Given the description of an element on the screen output the (x, y) to click on. 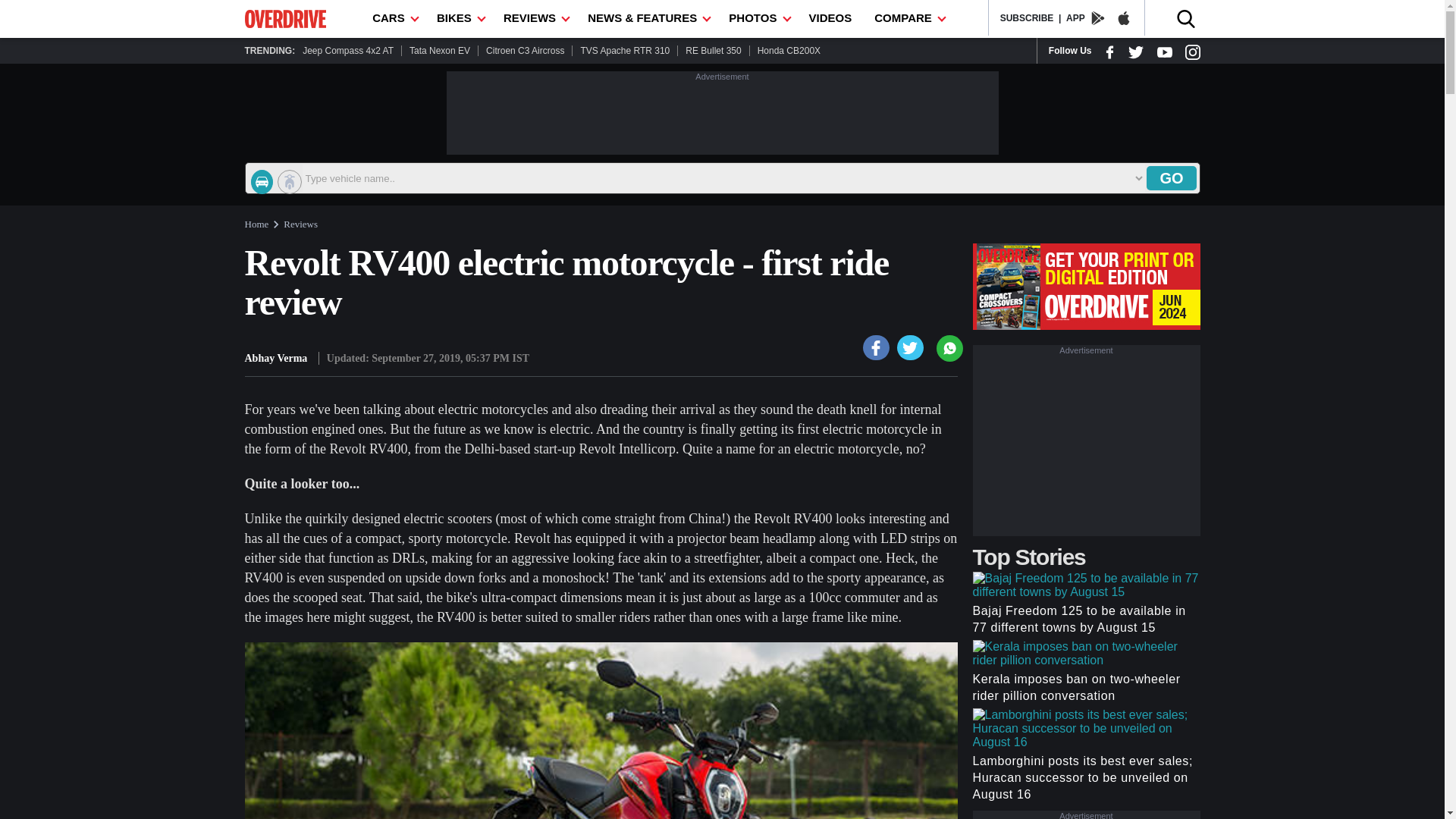
Revolt RV400 electric motorcycle - first ride review (600, 730)
Revolt RV400 electric motorcycle - first ride review (876, 347)
REVIEWS (534, 18)
PHOTOS (756, 18)
BIKES (458, 18)
Revolt RV400 electric motorcycle - first ride review (909, 347)
CARS (393, 18)
